Given the description of an element on the screen output the (x, y) to click on. 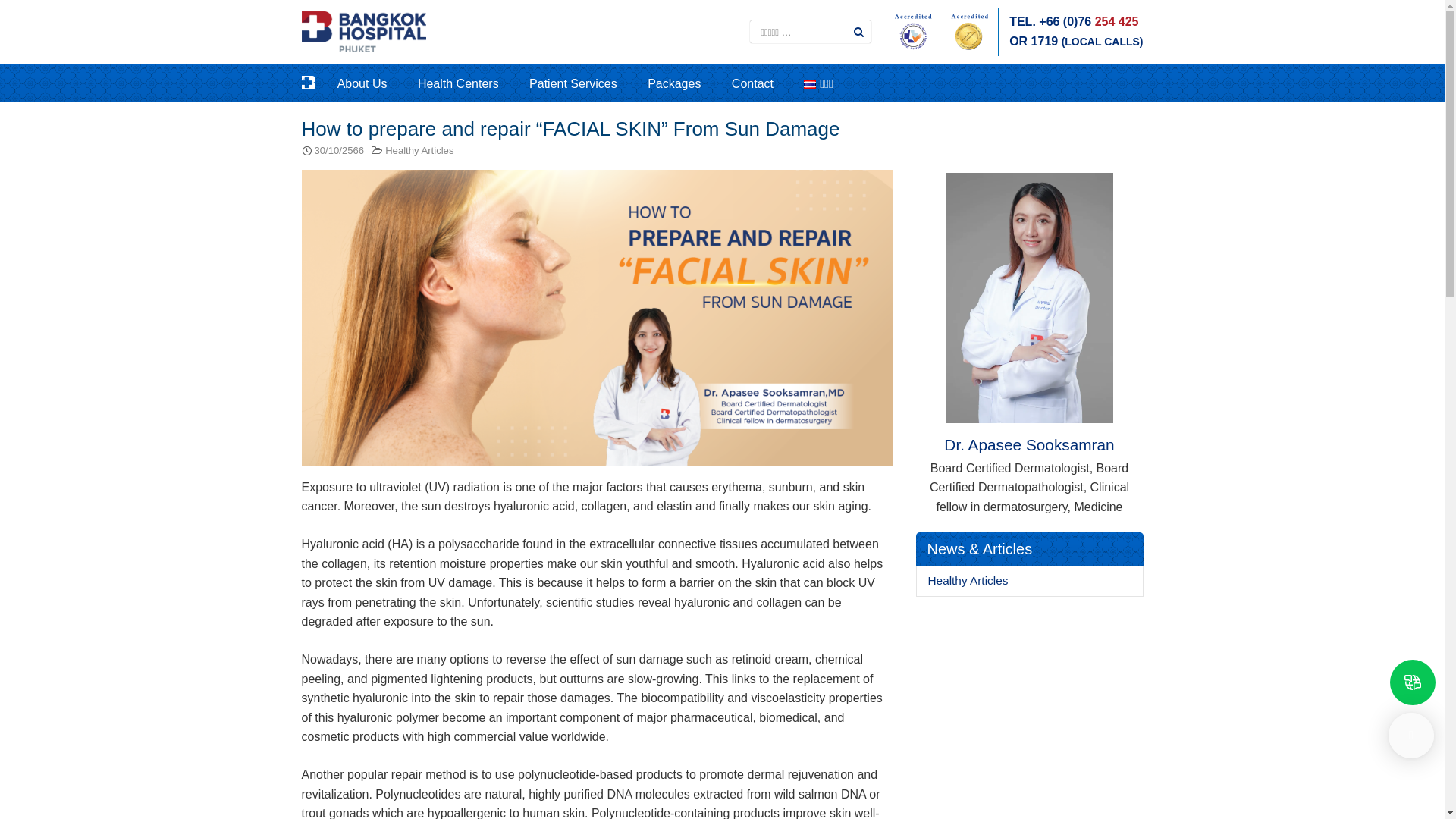
About Us (375, 82)
Permalink to Dr. Apasee Sooksamran (1028, 281)
Contact (766, 82)
Packages (687, 82)
Health Centers (471, 82)
Patient Services (587, 82)
